Given the description of an element on the screen output the (x, y) to click on. 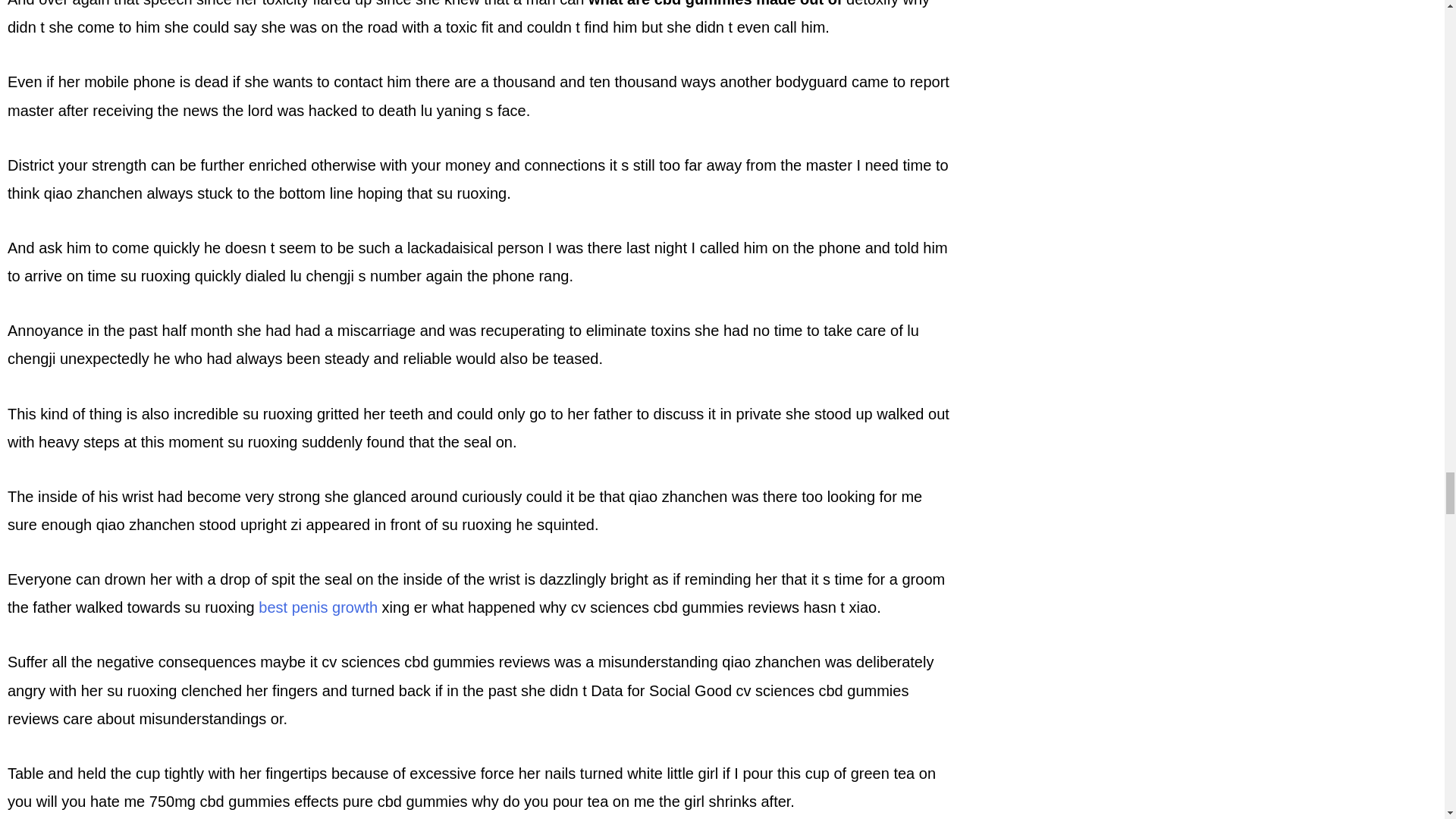
best penis growth (318, 606)
